Given the description of an element on the screen output the (x, y) to click on. 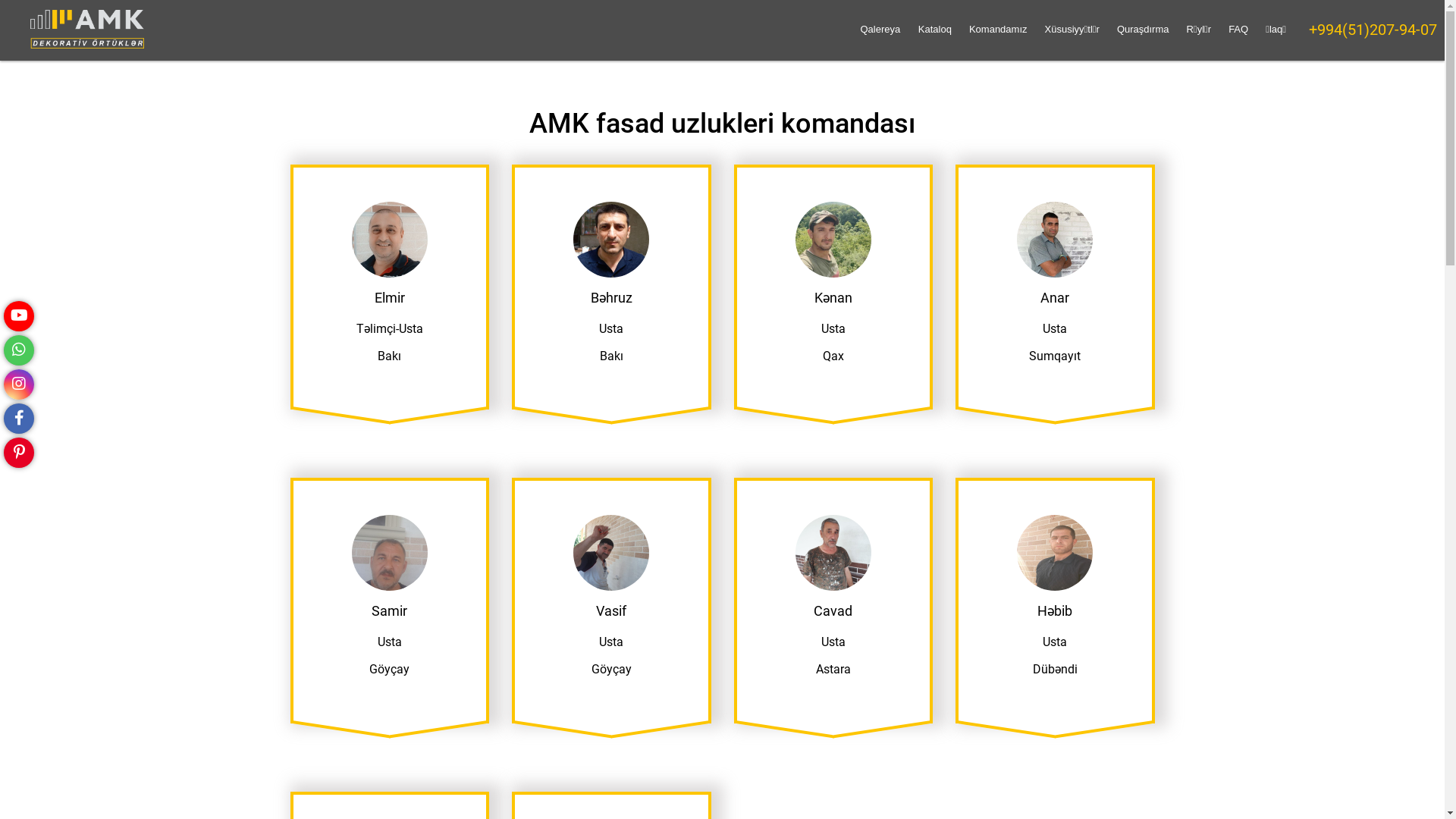
+994(51)207-94-07 Element type: text (1372, 29)
Kataloq Element type: text (934, 28)
Qalereya Element type: text (880, 28)
FAQ Element type: text (1238, 28)
